Given the description of an element on the screen output the (x, y) to click on. 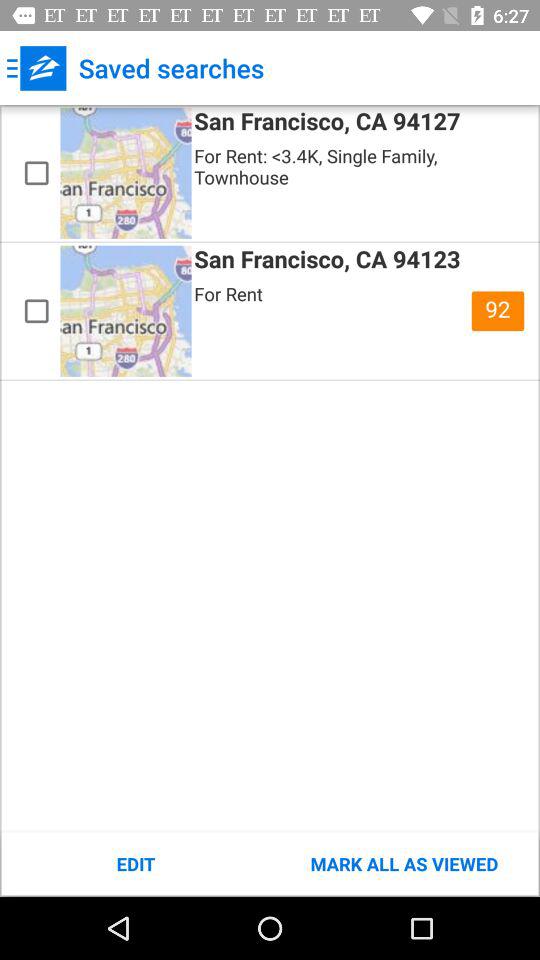
select the result of searching (36, 311)
